Given the description of an element on the screen output the (x, y) to click on. 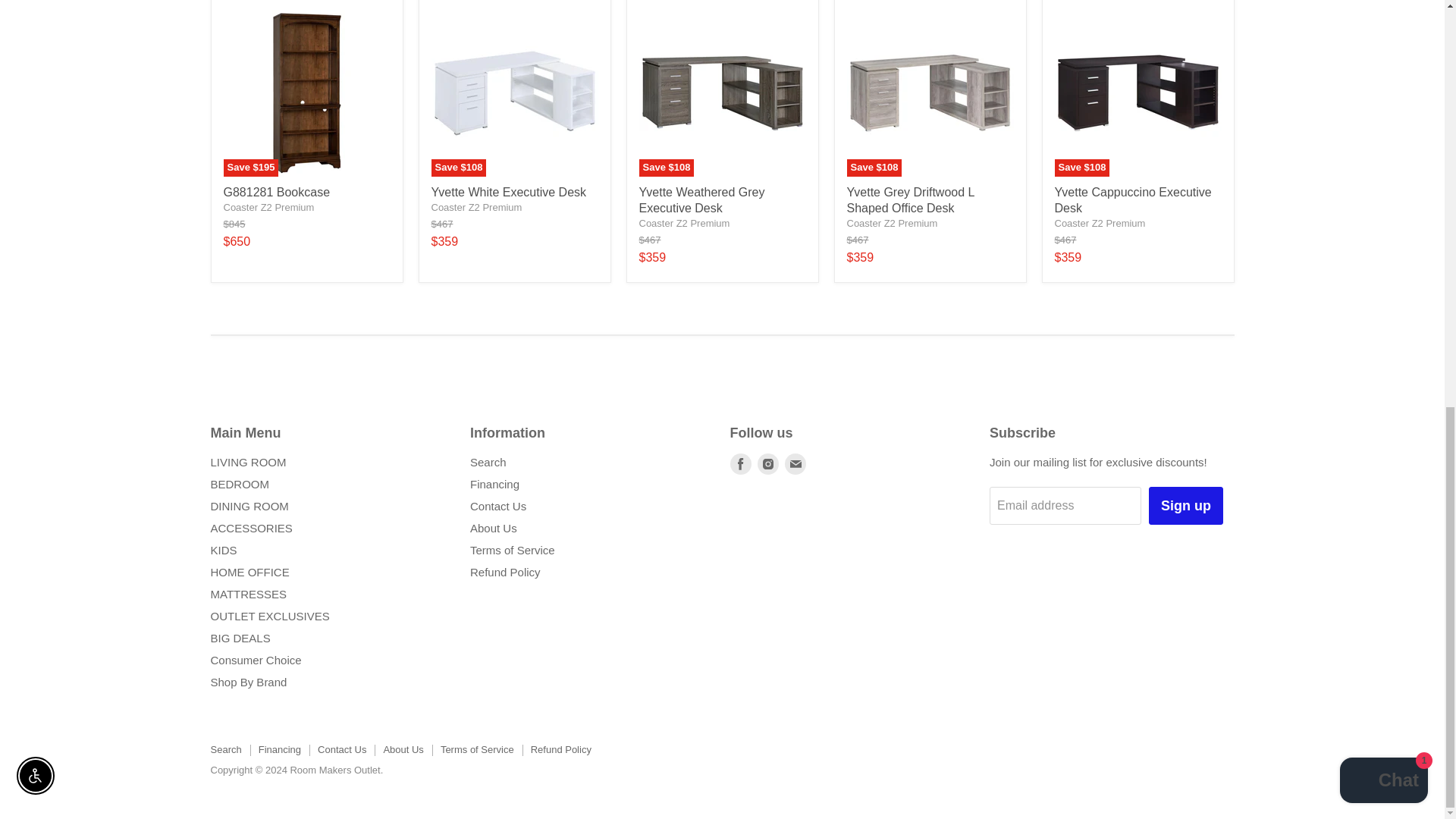
Instagram (767, 464)
Facebook (740, 464)
Coaster Z2 Premium (891, 223)
Coaster Z2 Premium (1099, 223)
Coaster Z2 Premium (268, 206)
Coaster Z2 Premium (684, 223)
E-mail (794, 464)
Coaster Z2 Premium (475, 206)
